Given the description of an element on the screen output the (x, y) to click on. 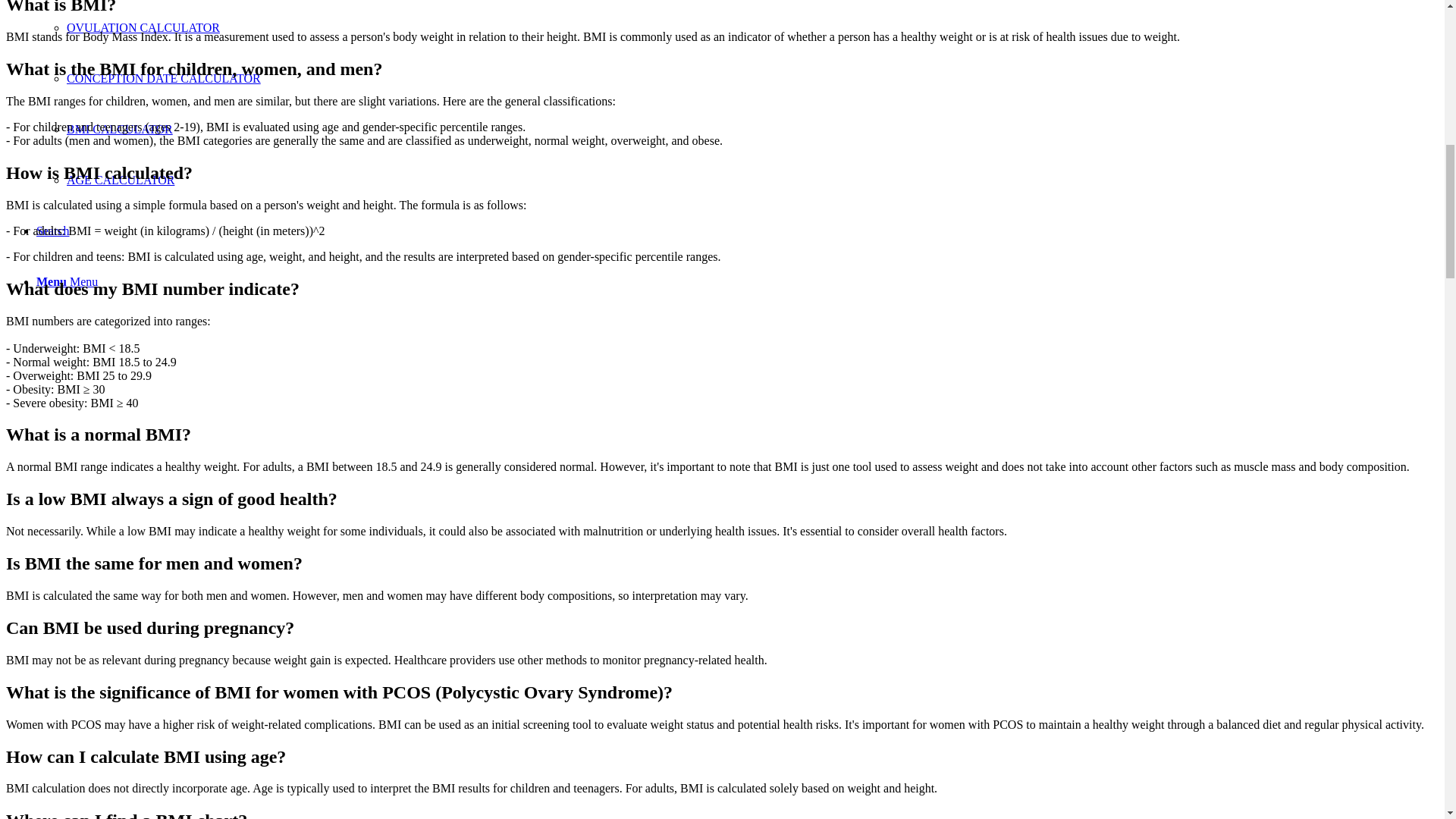
AGE CALCULATOR (120, 179)
Menu Menu (66, 281)
BMI CALCULATOR (119, 128)
Search (52, 230)
CONCEPTION DATE CALCULATOR (163, 78)
OVULATION CALCULATOR (142, 27)
